Given the description of an element on the screen output the (x, y) to click on. 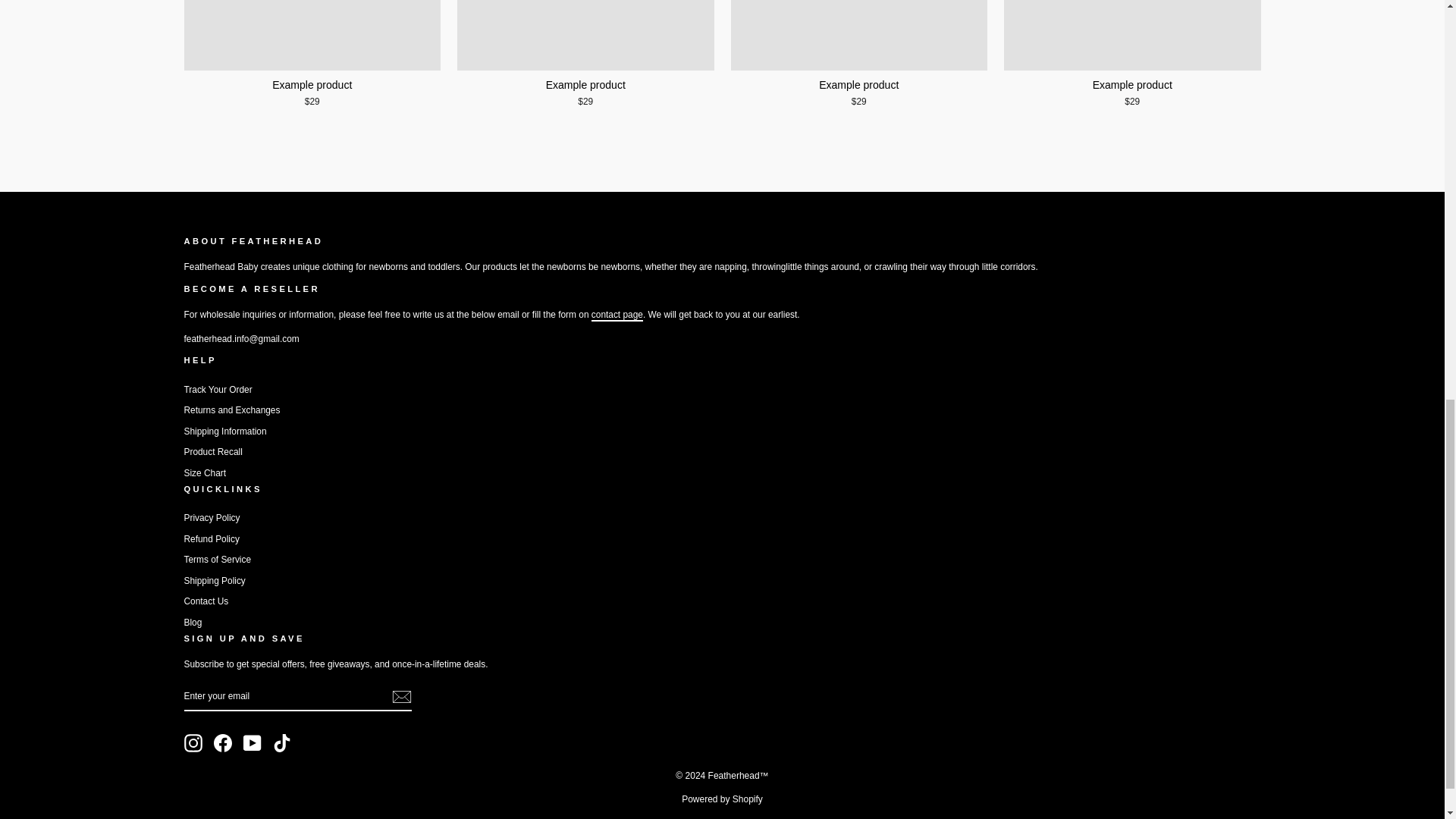
Contact Us (617, 315)
icon-email (400, 696)
instagram (192, 742)
